Given the description of an element on the screen output the (x, y) to click on. 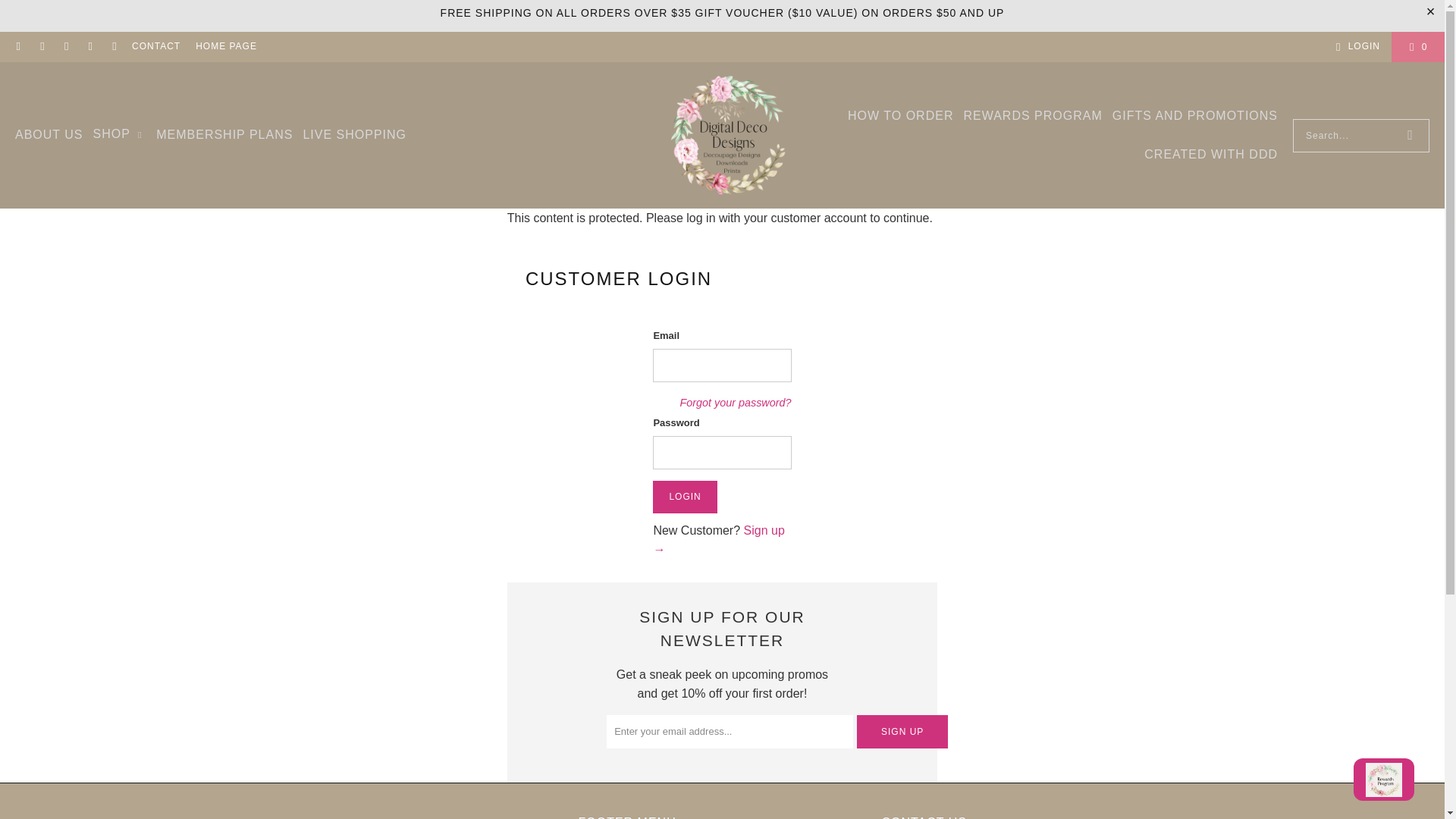
Digital Deco Designs on TikTok (113, 46)
Email Digital Deco Designs (17, 46)
Digital Deco Designs on Instagram (65, 46)
Digital Deco Designs on Pinterest (89, 46)
Sign Up (902, 731)
My Account  (1355, 46)
Digital Deco Designs (729, 134)
Login (684, 496)
Digital Deco Designs on Facebook (41, 46)
